Given the description of an element on the screen output the (x, y) to click on. 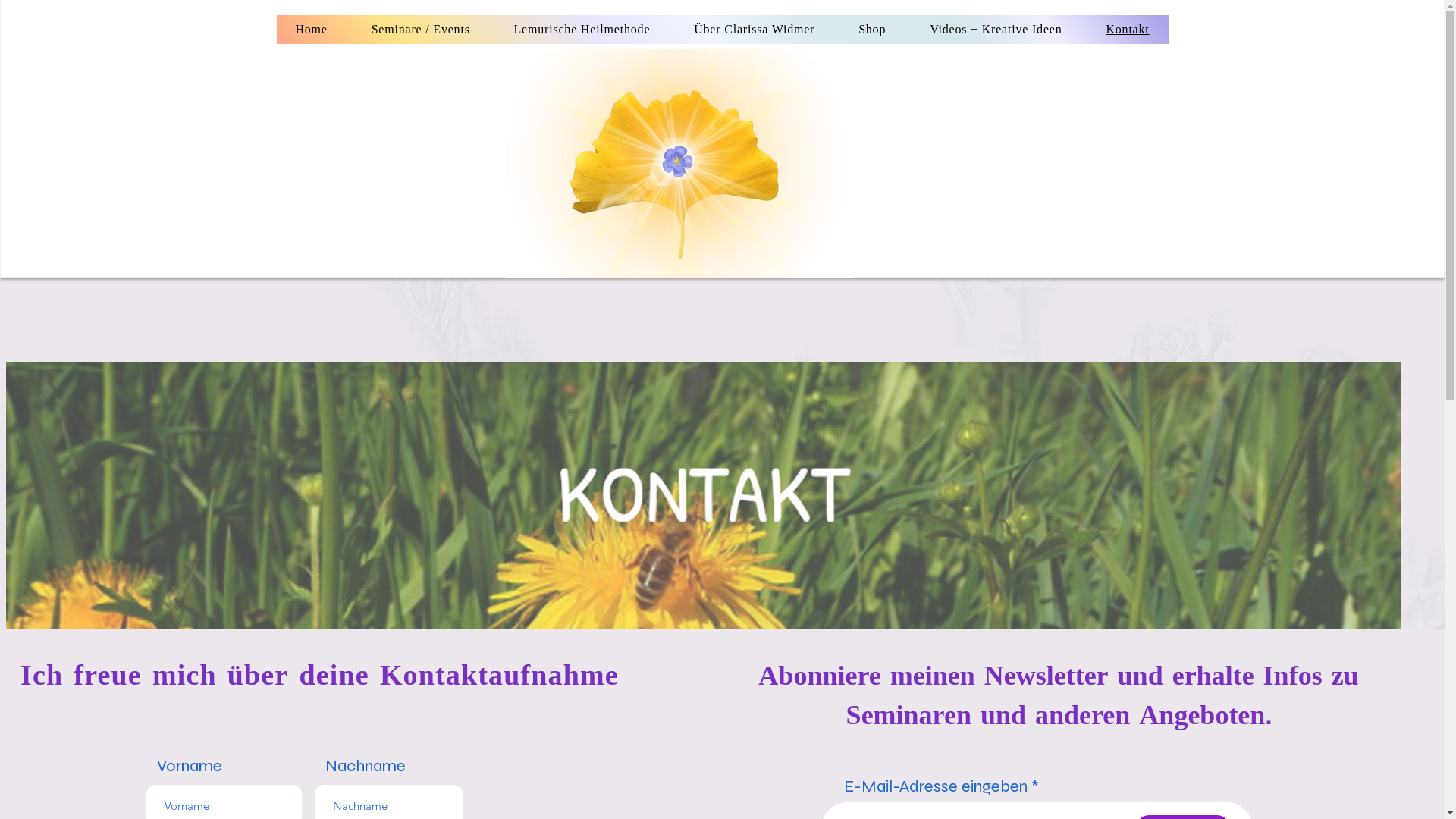
Videos + Kreative Ideen Element type: text (995, 29)
18.png Element type: hover (678, 162)
Seminare / Events Element type: text (420, 29)
Kontakt.PNG Element type: hover (703, 494)
Home Element type: text (310, 29)
Shop Element type: text (871, 29)
Lemurische Heilmethode Element type: text (582, 29)
Kontakt Element type: text (1126, 29)
